Given the description of an element on the screen output the (x, y) to click on. 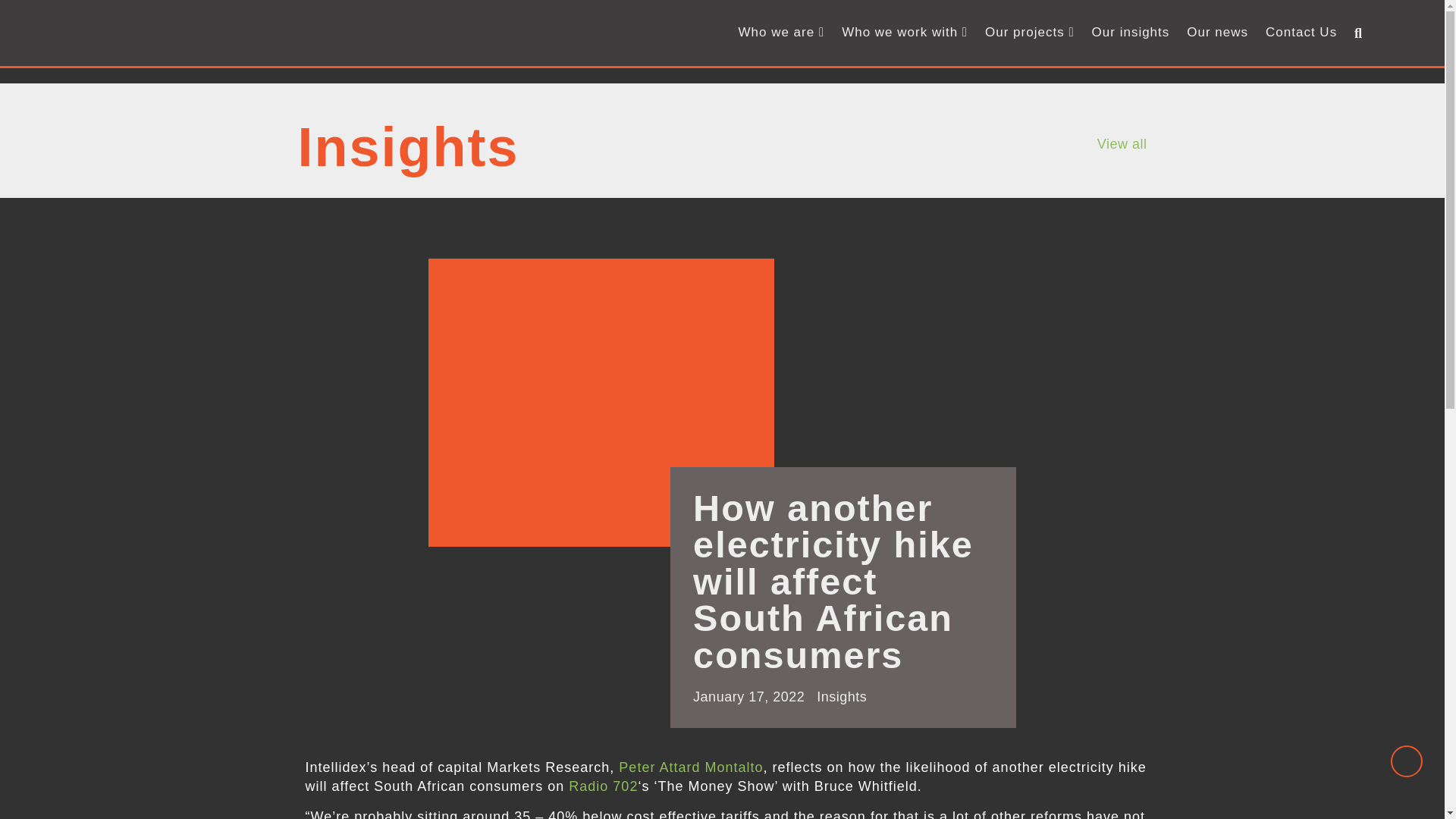
Our news (1217, 32)
Our projects (1028, 32)
Contact Us (1300, 32)
Who we are (780, 32)
Who we work with (904, 32)
Our insights (1130, 32)
